Given the description of an element on the screen output the (x, y) to click on. 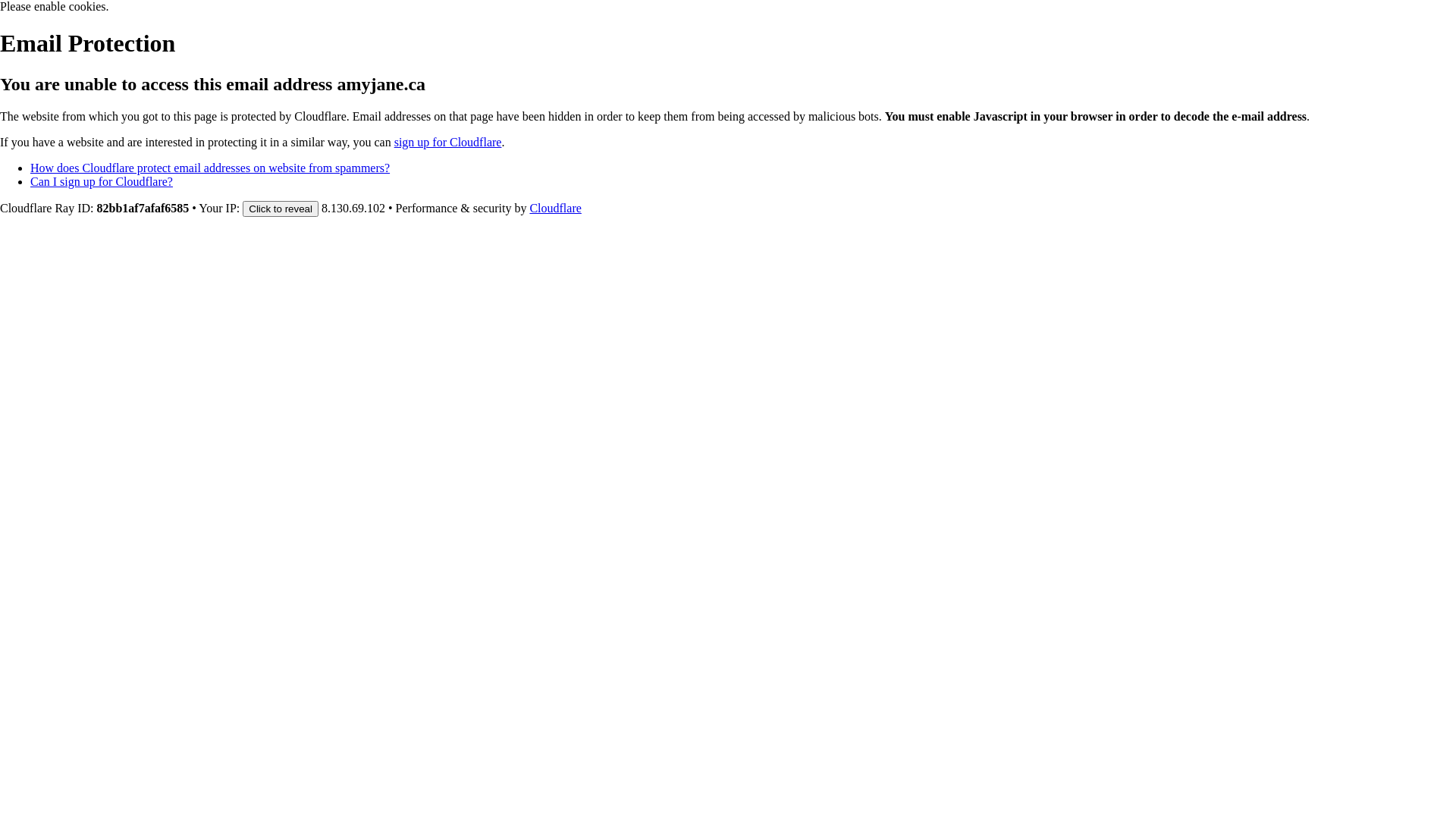
Click to reveal Element type: text (280, 208)
sign up for Cloudflare Element type: text (448, 141)
Can I sign up for Cloudflare? Element type: text (101, 181)
Cloudflare Element type: text (554, 207)
